Given the description of an element on the screen output the (x, y) to click on. 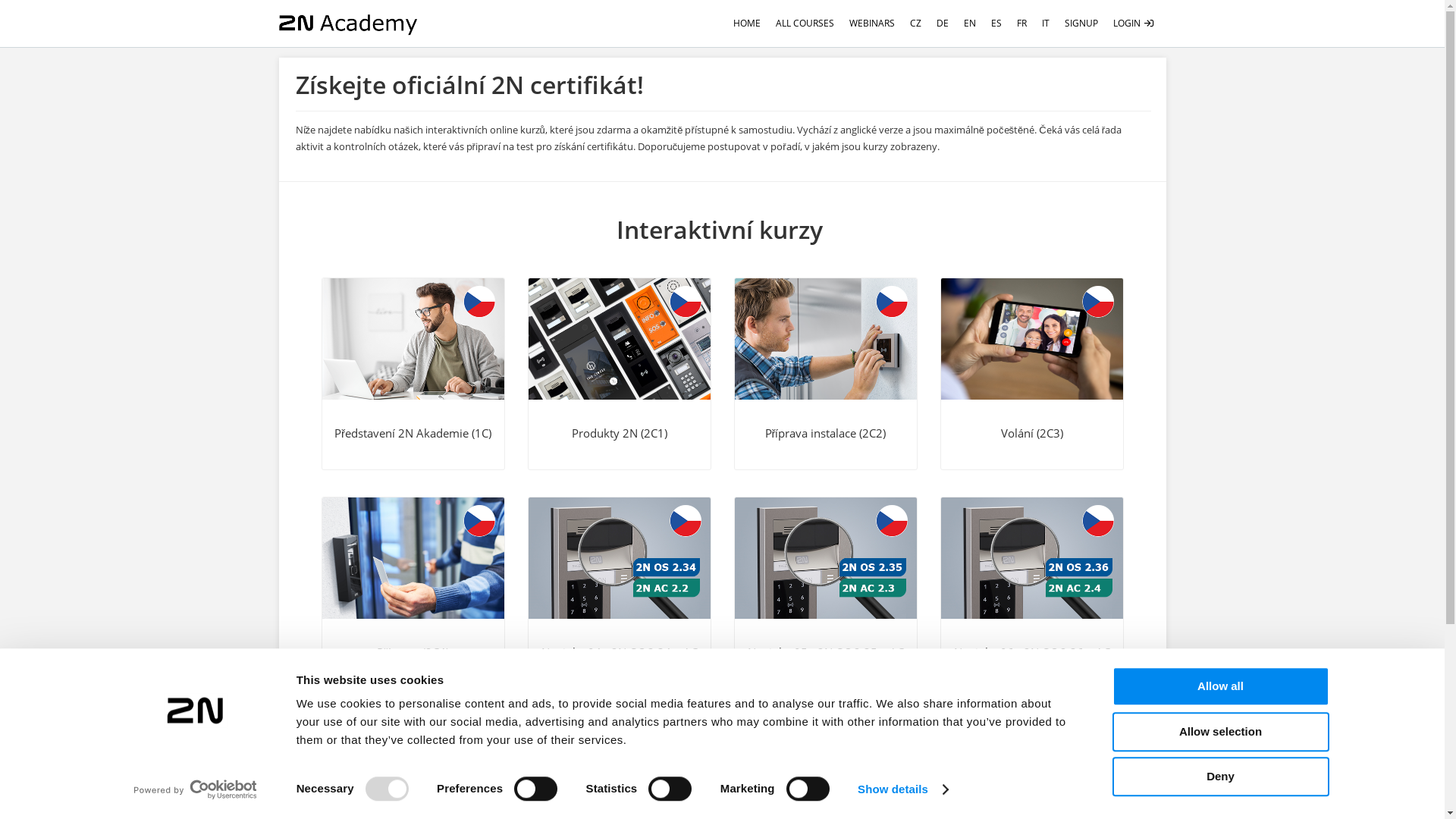
ES Element type: text (996, 23)
Novinky 04 - 2N OS 2.34 a AC 2.2 (3C1) Element type: hover (618, 557)
DE Element type: text (942, 23)
Novinky 04 - 2N OS 2.34 a AC 2.2 (3C1) Element type: text (619, 592)
LOGIN  Element type: text (1133, 23)
ALL COURSES Element type: text (804, 23)
Novinky 06 - 2N OS 2.36 a AC 2.4 (3C3) Element type: hover (1031, 557)
FR Element type: text (1021, 23)
Produkty 2N (2C1) Element type: hover (618, 338)
Deny Element type: text (1219, 776)
Allow all Element type: text (1219, 686)
Novinky 05 - 2N OS 2.35 a AC 2.3 (3C2) Element type: text (825, 592)
SIGNUP Element type: text (1081, 23)
WEBINARS Element type: text (871, 23)
HOME Element type: text (746, 23)
Produkty 2N (2C1) Element type: text (619, 373)
Novinky 05 - 2N OS 2.35 a AC 2.3 (3C2) Element type: hover (825, 557)
Allow selection Element type: text (1219, 731)
CZ Element type: text (915, 23)
EN Element type: text (969, 23)
Show details Element type: text (902, 789)
IT Element type: text (1045, 23)
Novinky 06 - 2N OS 2.36 a AC 2.4 (3C3) Element type: text (1031, 592)
